Given the description of an element on the screen output the (x, y) to click on. 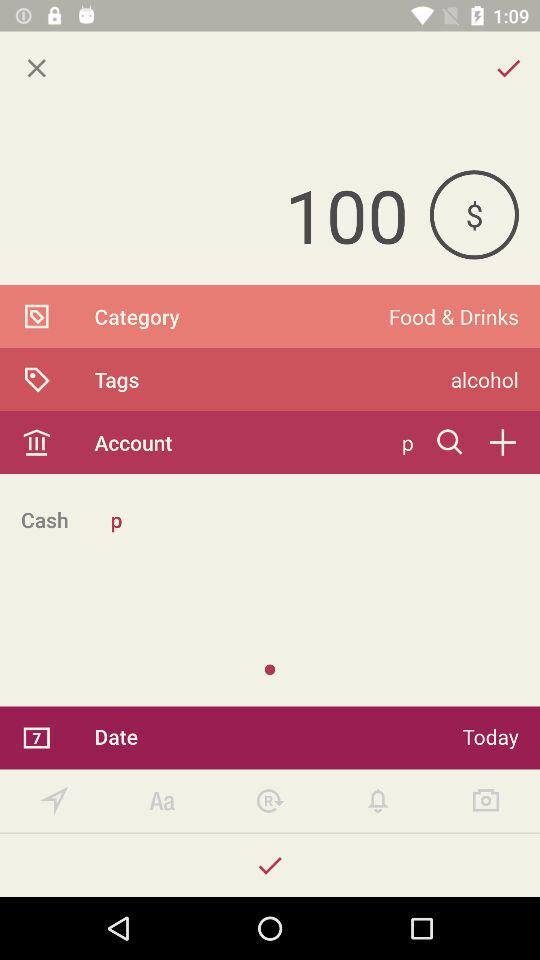
click to change typing mode alphabet/numeric (162, 800)
